Given the description of an element on the screen output the (x, y) to click on. 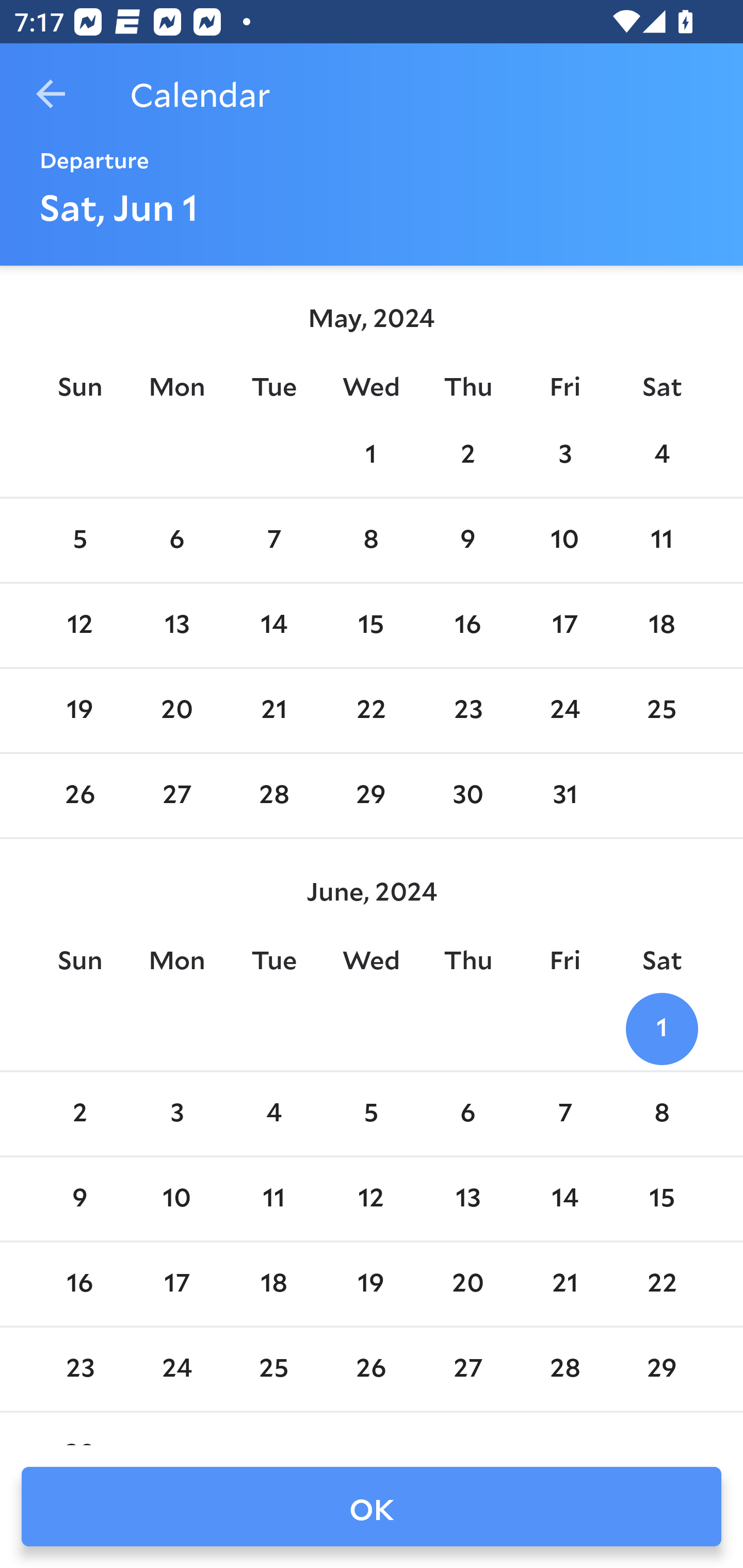
Navigate up (50, 93)
1 (371, 454)
2 (467, 454)
3 (565, 454)
4 (661, 454)
5 (79, 540)
6 (177, 540)
7 (273, 540)
8 (371, 540)
9 (467, 540)
10 (565, 540)
11 (661, 540)
12 (79, 625)
13 (177, 625)
14 (273, 625)
15 (371, 625)
16 (467, 625)
17 (565, 625)
18 (661, 625)
19 (79, 710)
20 (177, 710)
21 (273, 710)
22 (371, 710)
23 (467, 710)
24 (565, 710)
25 (661, 710)
26 (79, 796)
27 (177, 796)
28 (273, 796)
29 (371, 796)
30 (467, 796)
31 (565, 796)
1 (661, 1028)
2 (79, 1114)
3 (177, 1114)
4 (273, 1114)
5 (371, 1114)
6 (467, 1114)
7 (565, 1114)
8 (661, 1114)
9 (79, 1199)
10 (177, 1199)
11 (273, 1199)
12 (371, 1199)
13 (467, 1199)
14 (565, 1199)
15 (661, 1199)
16 (79, 1284)
17 (177, 1284)
18 (273, 1284)
